Given the description of an element on the screen output the (x, y) to click on. 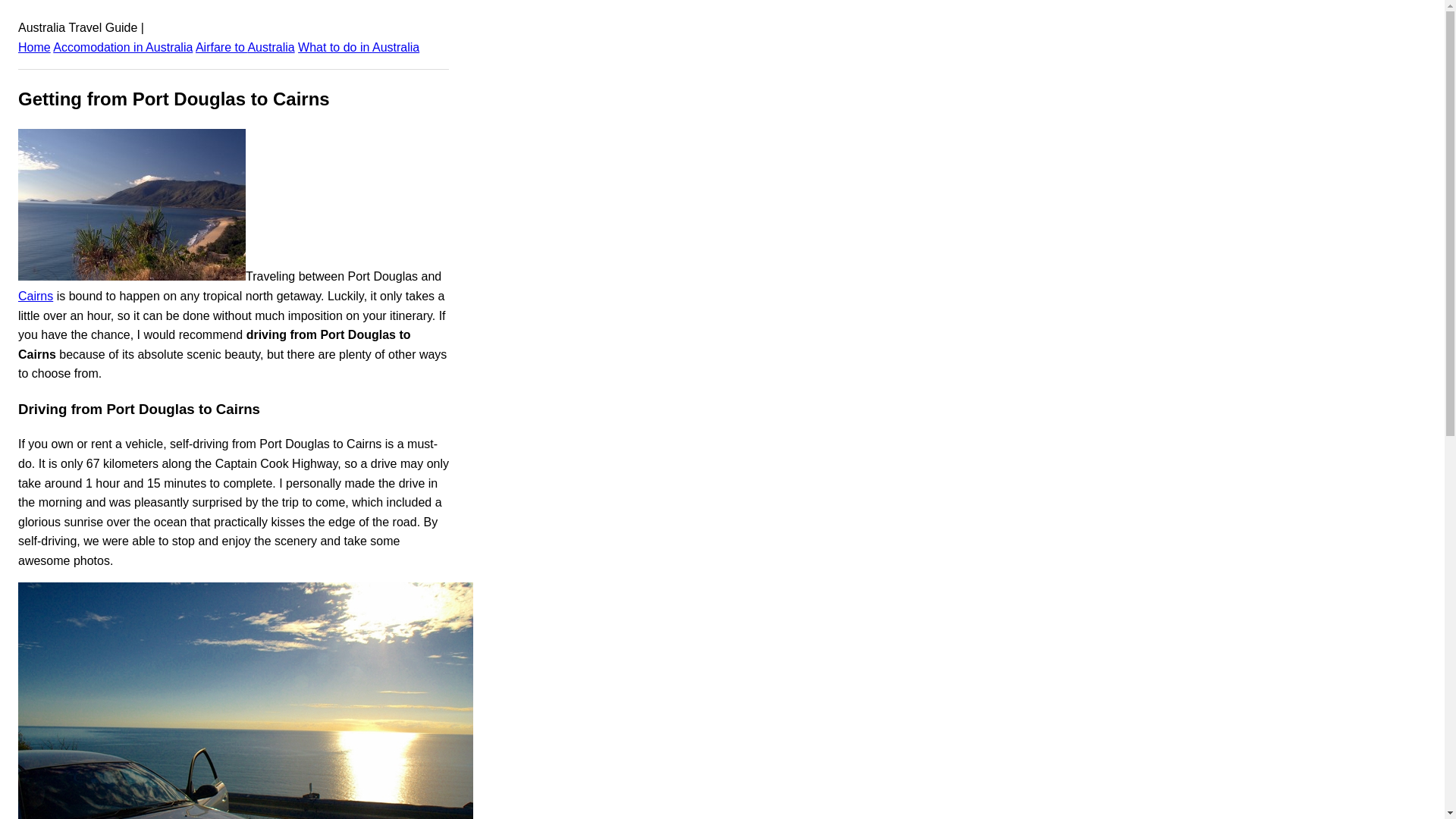
What to do in Australia (358, 47)
Airfare to Australia (245, 47)
Cairns (34, 295)
Accomodation in Australia (122, 47)
Home (33, 47)
